Given the description of an element on the screen output the (x, y) to click on. 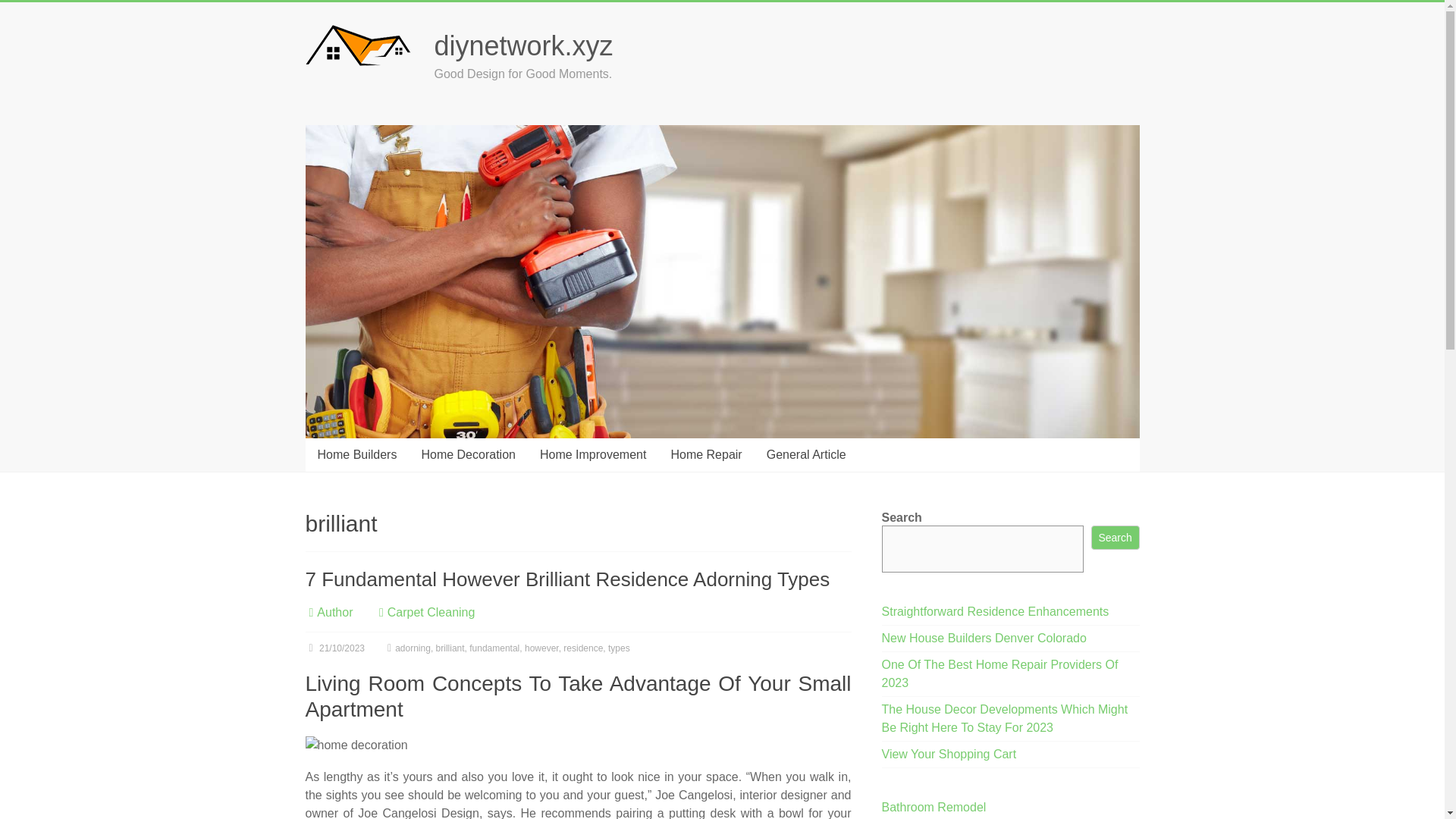
7 Fundamental However Brilliant Residence Adorning Types (566, 578)
7 Fundamental However Brilliant Residence Adorning Types (566, 578)
Home Repair (706, 454)
however (541, 647)
Home Improvement (593, 454)
fundamental (493, 647)
07:09 (334, 647)
Home Decoration (468, 454)
residence (582, 647)
adorning (412, 647)
Carpet Cleaning (431, 611)
Author (334, 611)
Home Builders (356, 454)
General Article (806, 454)
Author (334, 611)
